Given the description of an element on the screen output the (x, y) to click on. 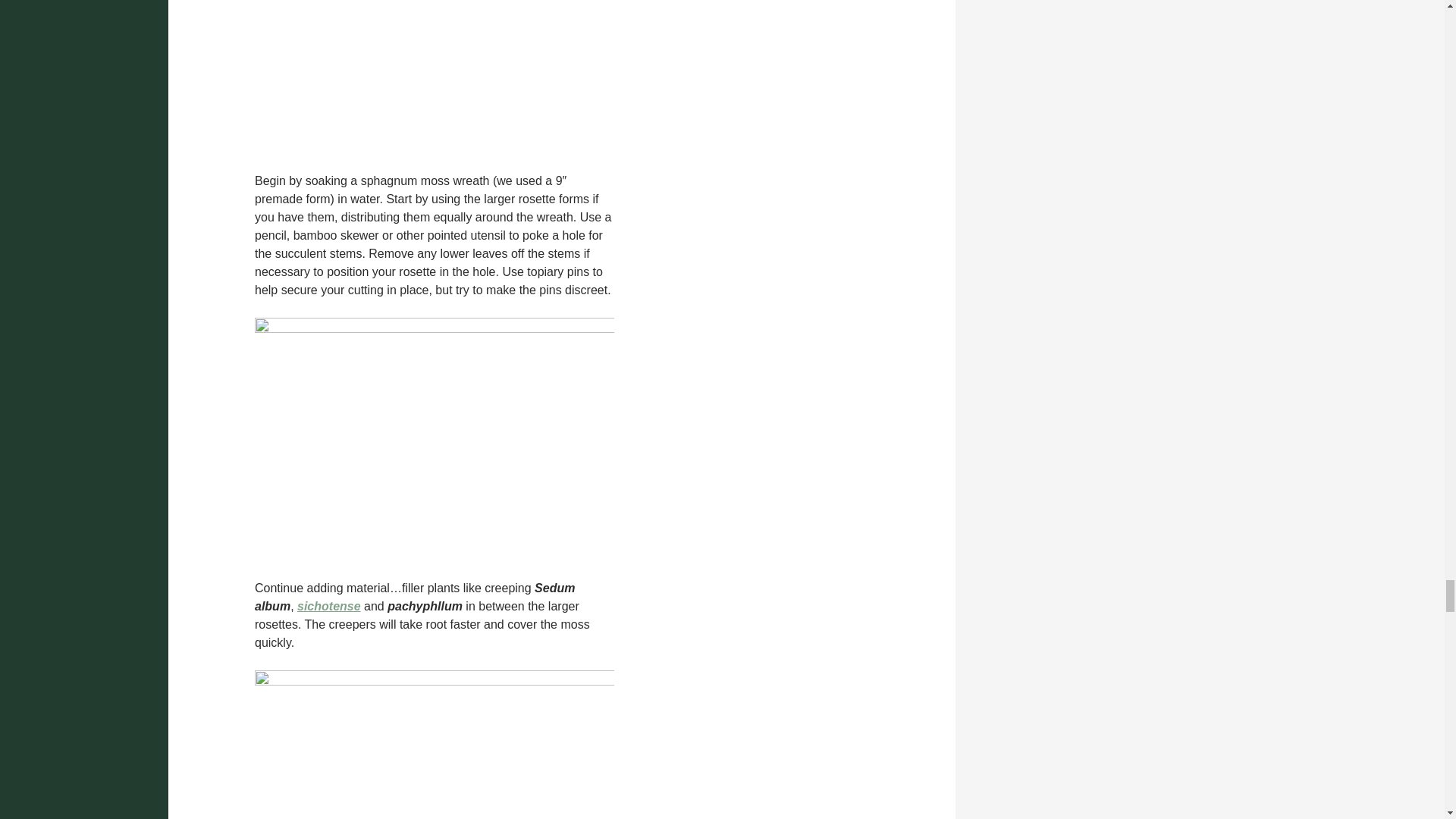
succulent wreath rosettes first (434, 76)
4 succulent wreath in process (434, 439)
Succulent wreath 5 (434, 744)
